Given the description of an element on the screen output the (x, y) to click on. 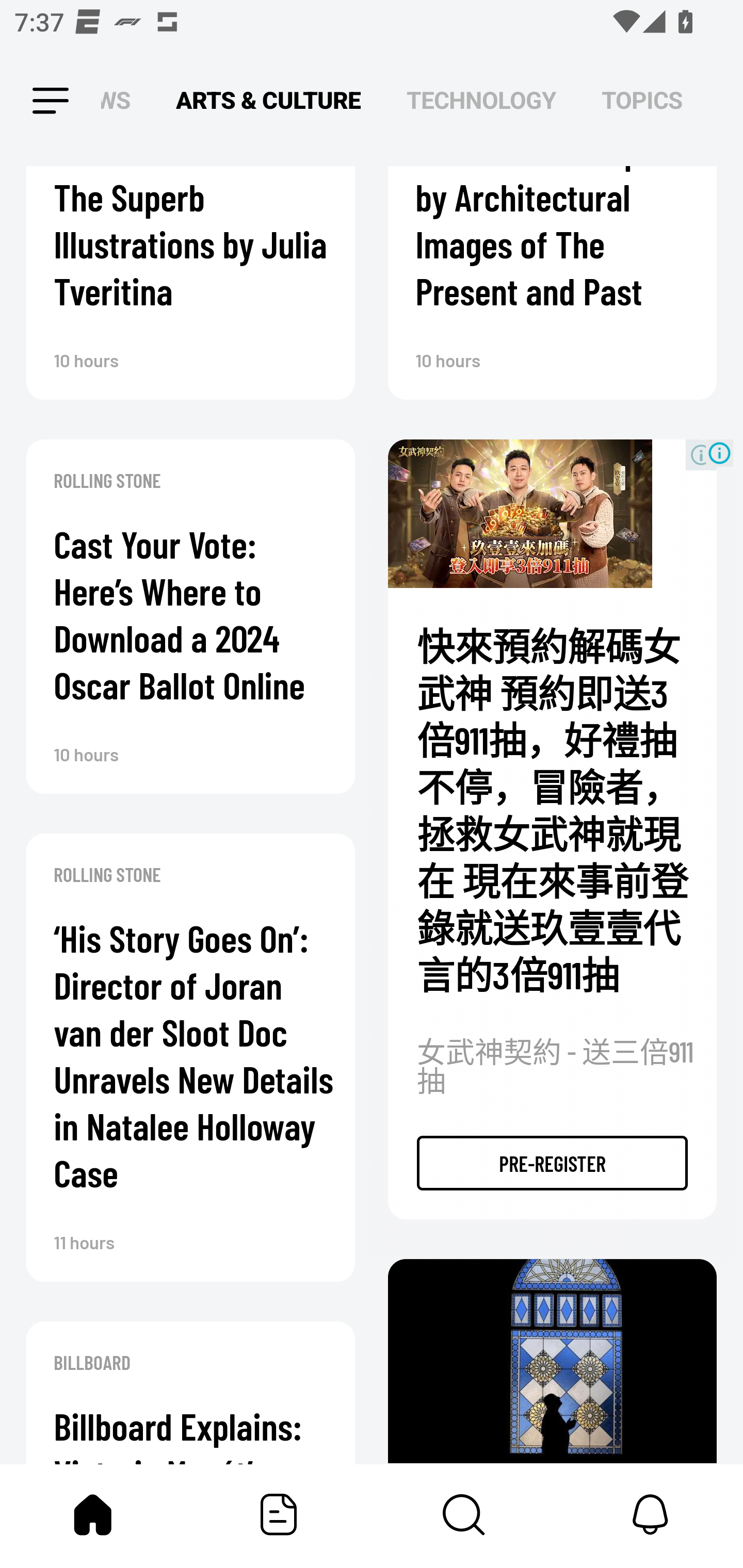
NEWS (121, 100)
TECHNOLOGY (481, 100)
TOPICS (641, 100)
Ad Choices Icon (719, 453)
Featured (278, 1514)
Content Store (464, 1514)
Notifications (650, 1514)
